Given the description of an element on the screen output the (x, y) to click on. 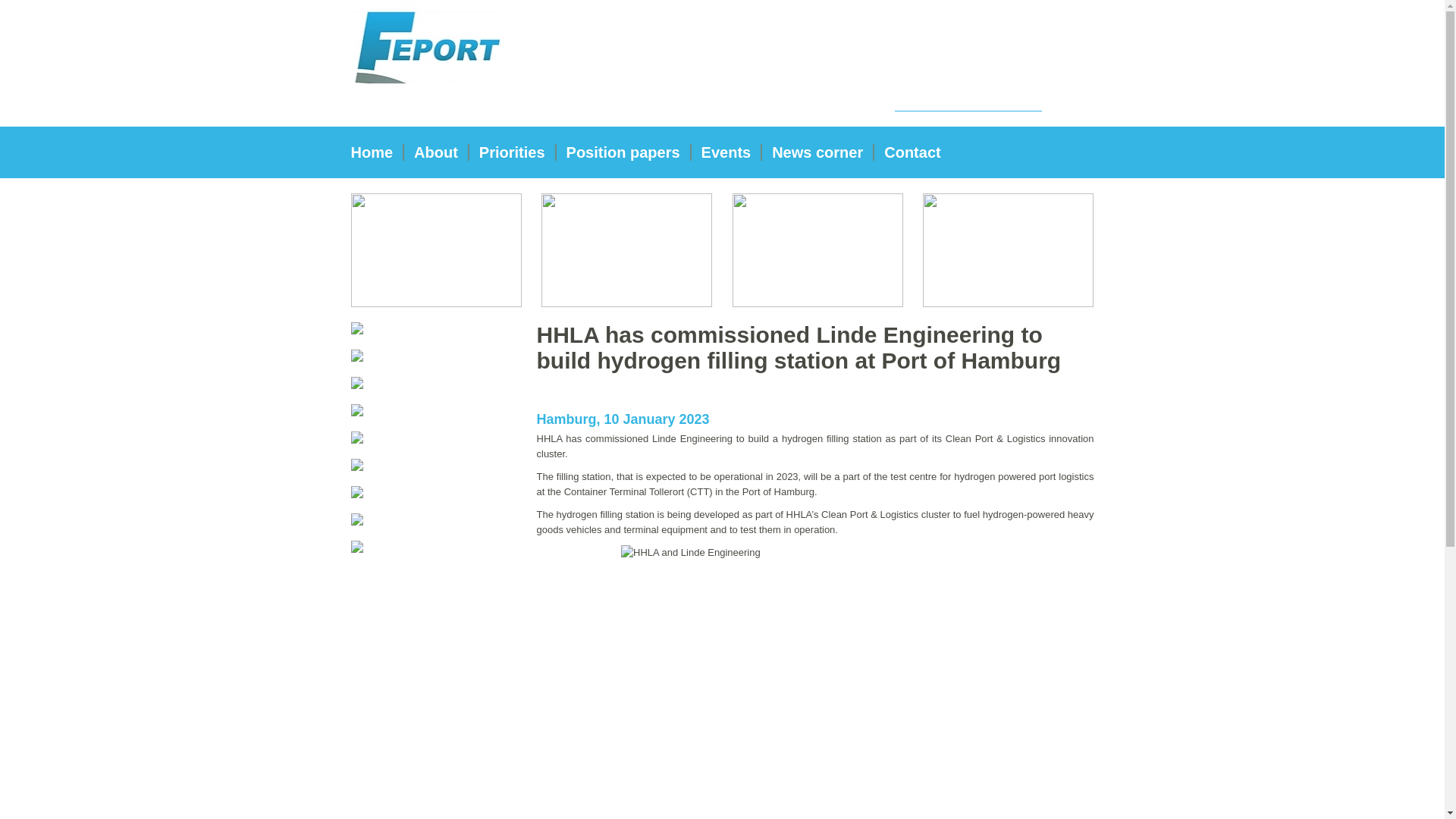
About (436, 152)
Members' area (972, 30)
Events (726, 152)
Position papers (623, 152)
Priorities (512, 152)
Home (377, 152)
